Given the description of an element on the screen output the (x, y) to click on. 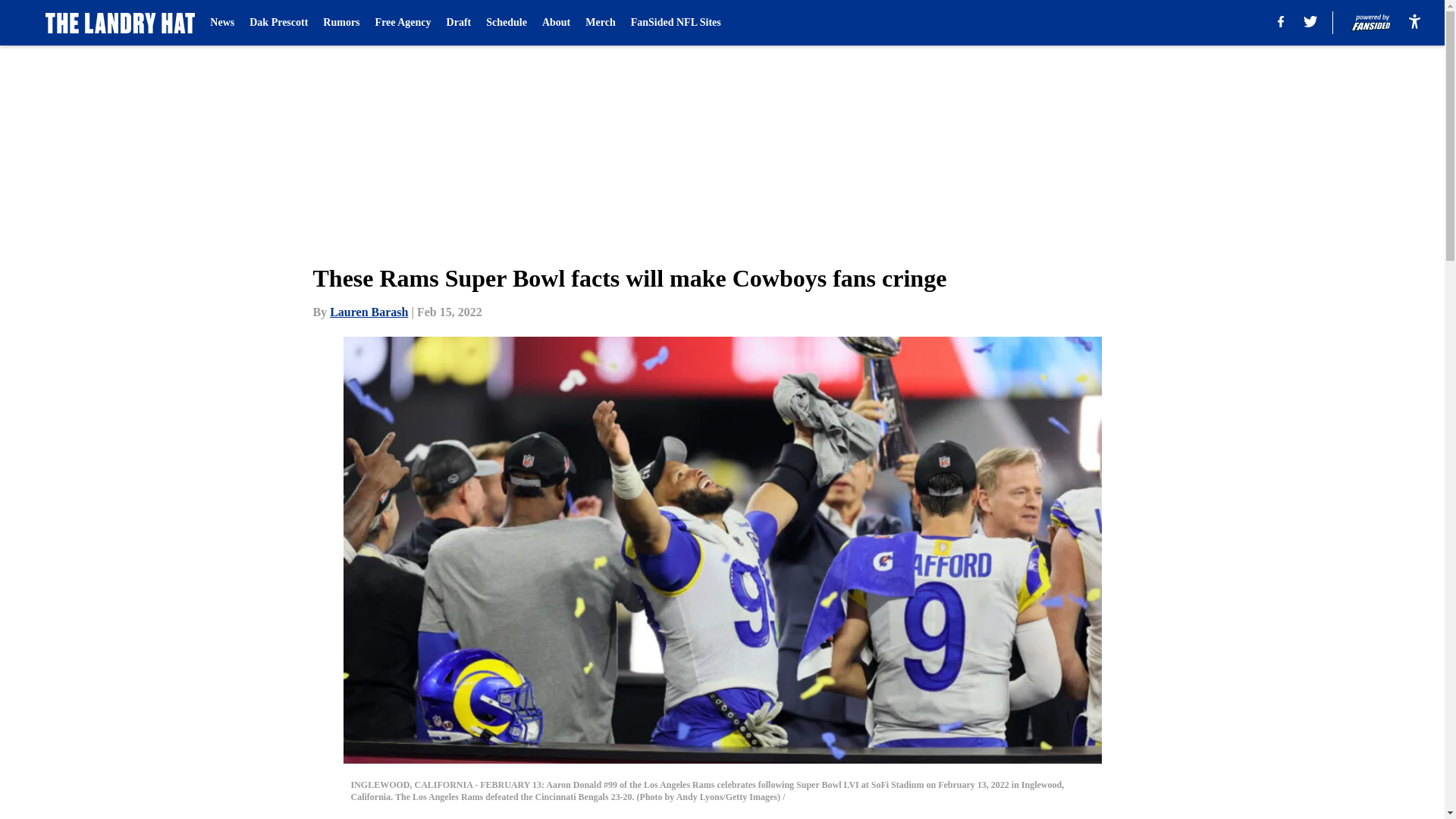
Dak Prescott (277, 22)
Draft (458, 22)
Rumors (341, 22)
FanSided NFL Sites (675, 22)
Free Agency (402, 22)
Schedule (506, 22)
Merch (599, 22)
News (221, 22)
Lauren Barash (368, 311)
About (555, 22)
